Given the description of an element on the screen output the (x, y) to click on. 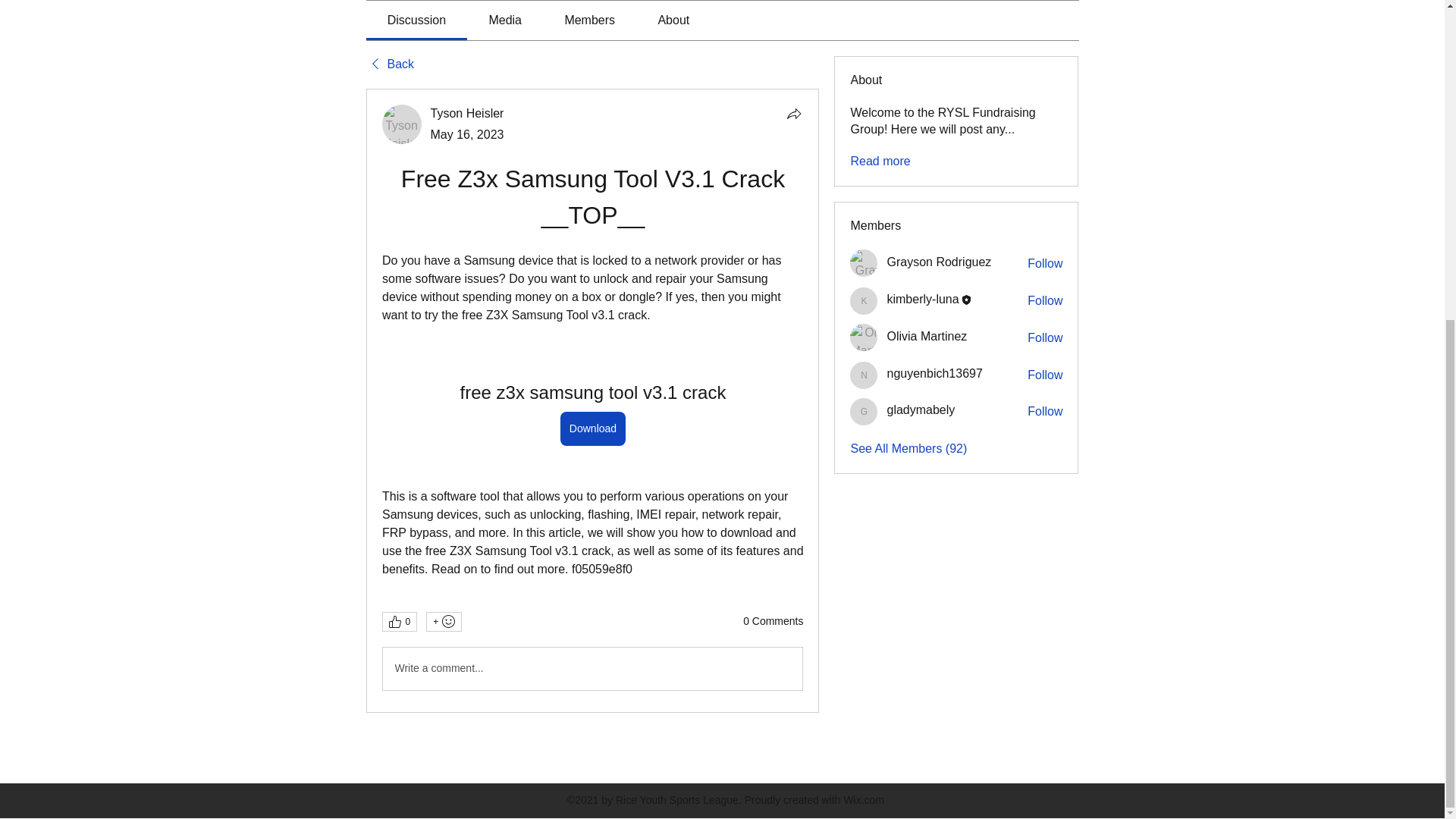
May 16, 2023 (466, 133)
Back (389, 64)
Grayson Rodriguez (863, 262)
nguyenbich13697 (863, 375)
Tyson Heisler (466, 113)
Download (591, 428)
gladymabely (920, 410)
nguyenbich13697 (933, 373)
gladymabely (863, 411)
